Given the description of an element on the screen output the (x, y) to click on. 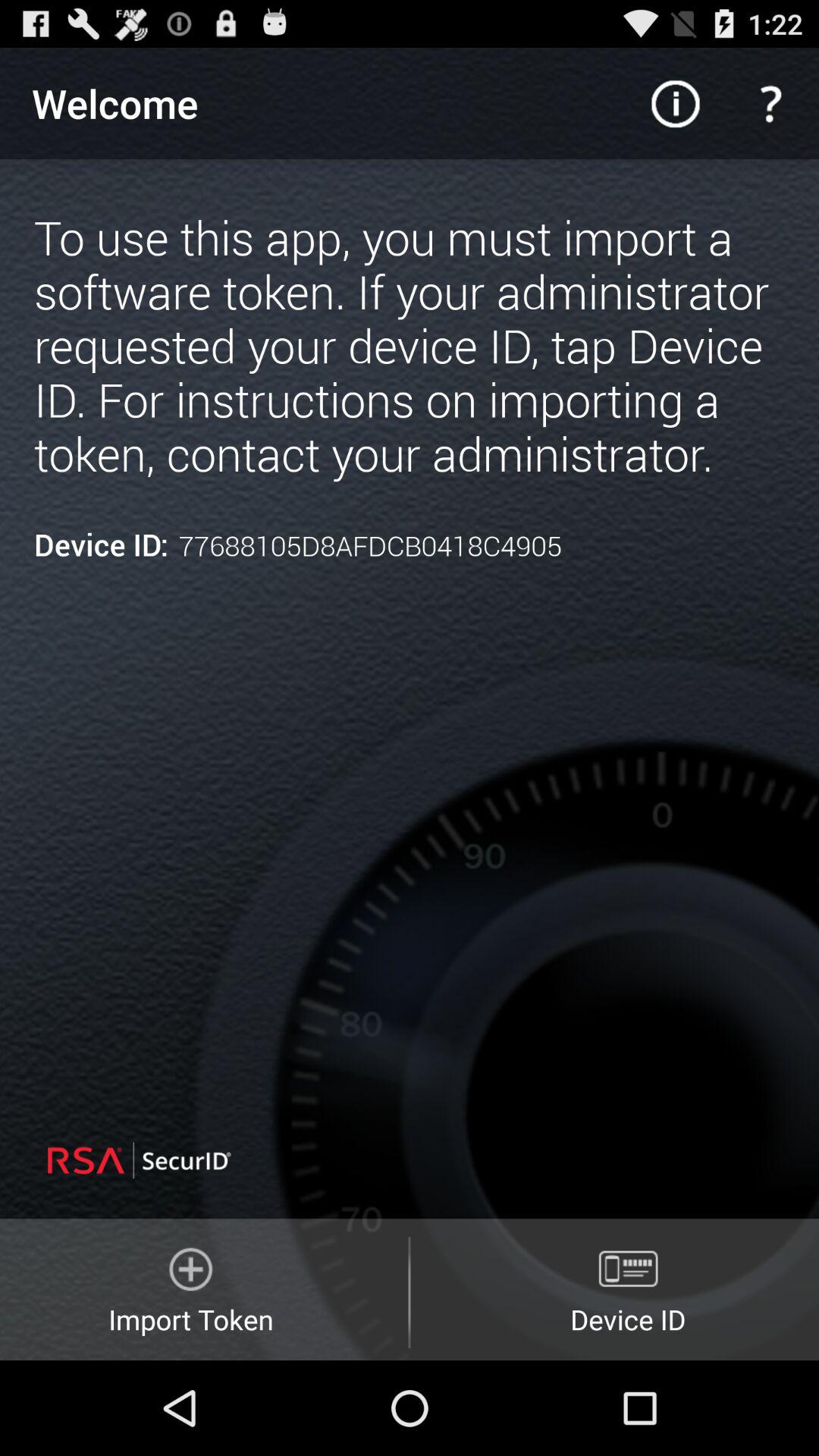
move to the text which is above the text import token (185, 1160)
select the second icon which is at the top right corner (771, 103)
select the icon which is immediately left to the question mark icon (675, 103)
